Given the description of an element on the screen output the (x, y) to click on. 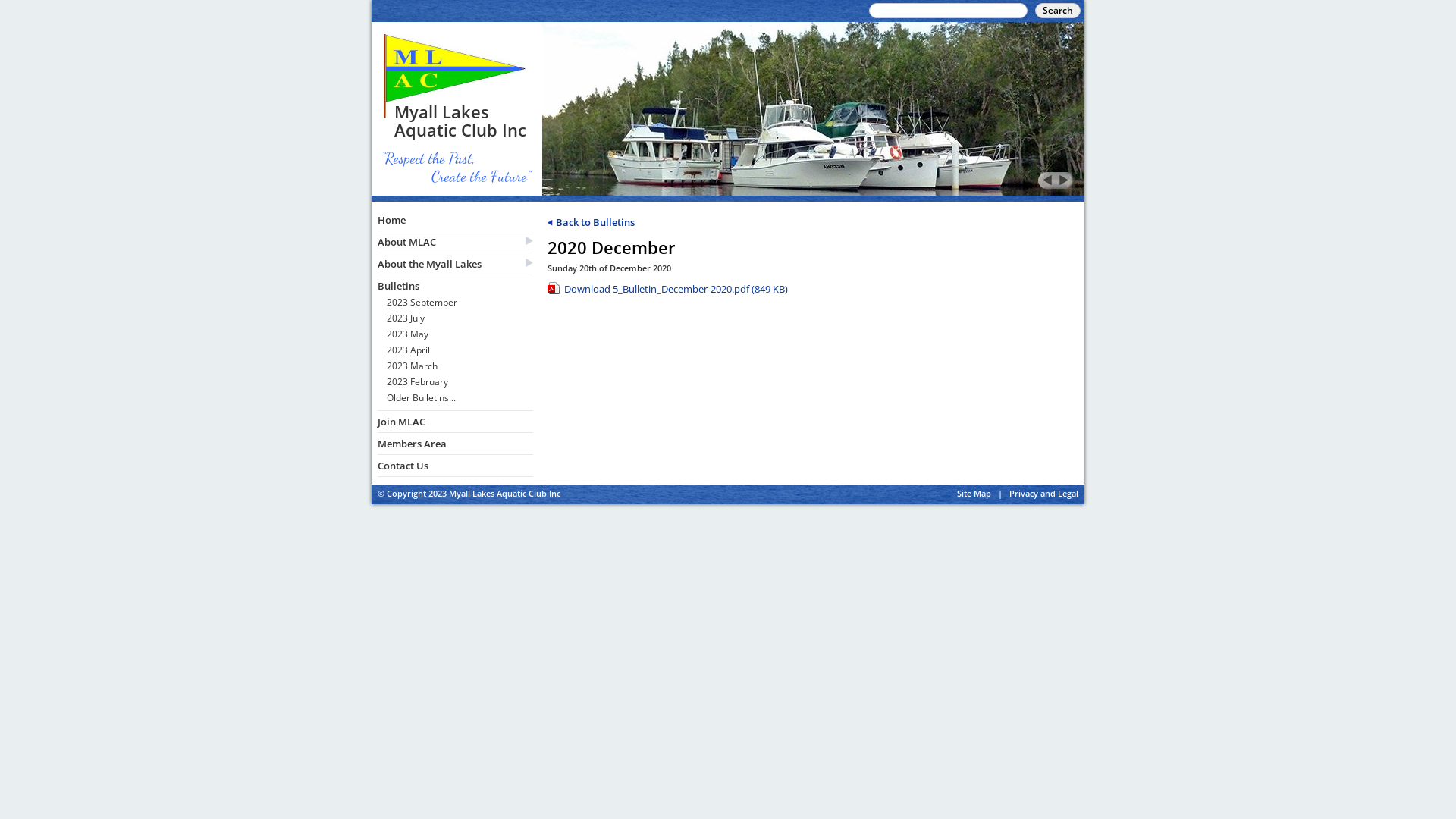
Back to Bulletins Element type: text (590, 222)
Home Element type: text (455, 219)
2023 September Element type: text (459, 304)
Site Map Element type: text (974, 492)
2023 April Element type: text (459, 352)
2023 March Element type: text (459, 368)
Join MLAC Element type: text (455, 421)
Search Element type: text (1057, 10)
Members Area Element type: text (455, 443)
Download 5_Bulletin_December-2020.pdf (849 KB) Element type: text (812, 291)
Contact Us Element type: text (455, 465)
About MLAC Element type: text (455, 241)
Bulletins Element type: text (455, 285)
2023 February Element type: text (459, 384)
Older Bulletins... Element type: text (459, 399)
Privacy and Legal Element type: text (1043, 492)
2023 May Element type: text (459, 336)
2023 July Element type: text (459, 320)
About the Myall Lakes Element type: text (455, 263)
